Given the description of an element on the screen output the (x, y) to click on. 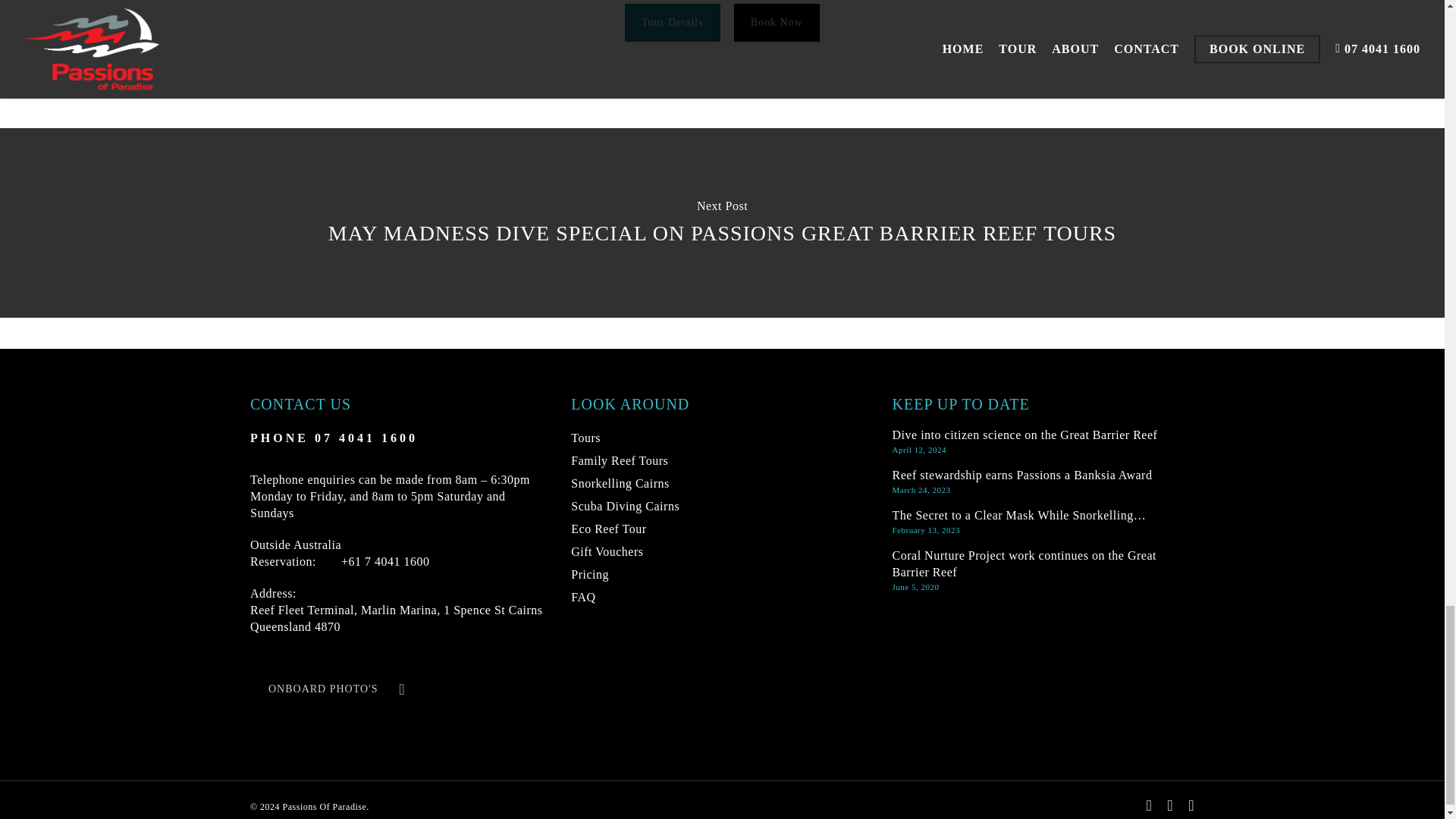
PHONE 07 4041 1600 (333, 437)
Book Now (776, 22)
Tour Details (295, 561)
